Given the description of an element on the screen output the (x, y) to click on. 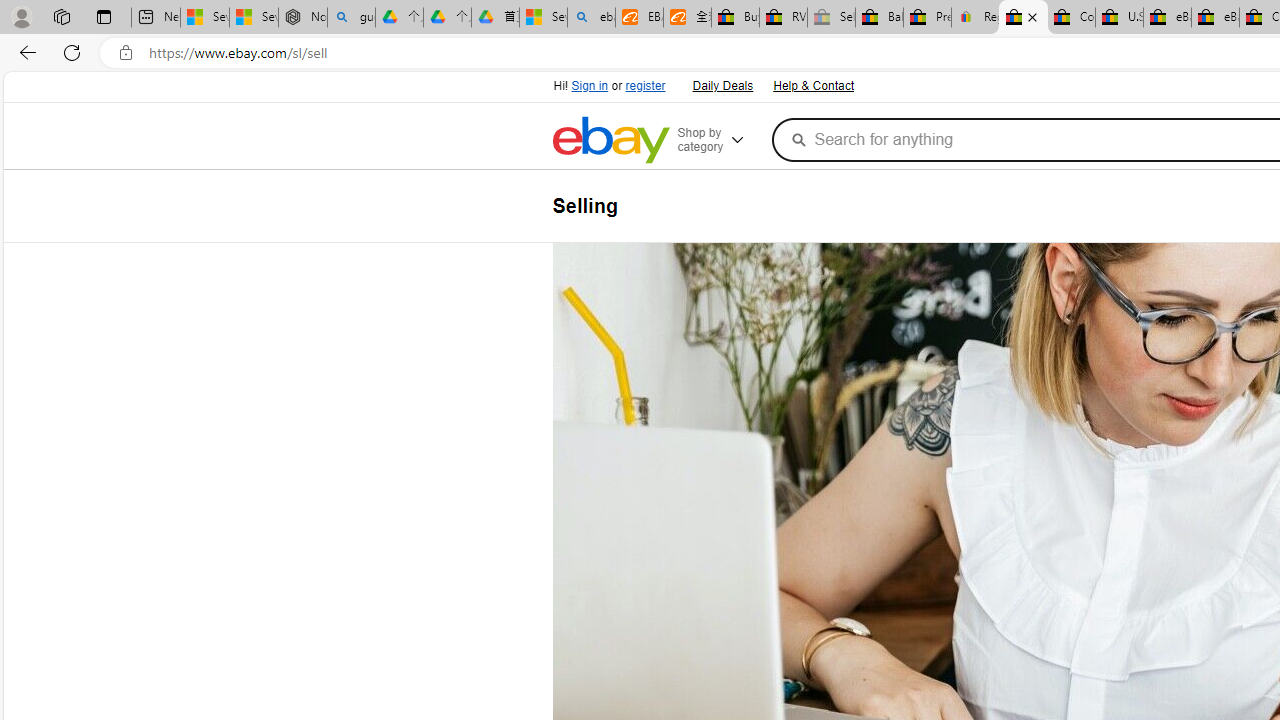
Register: Create a personal eBay account (975, 17)
Daily Deals (721, 84)
Consumer Health Data Privacy Policy - eBay Inc. (1071, 17)
